Given the description of an element on the screen output the (x, y) to click on. 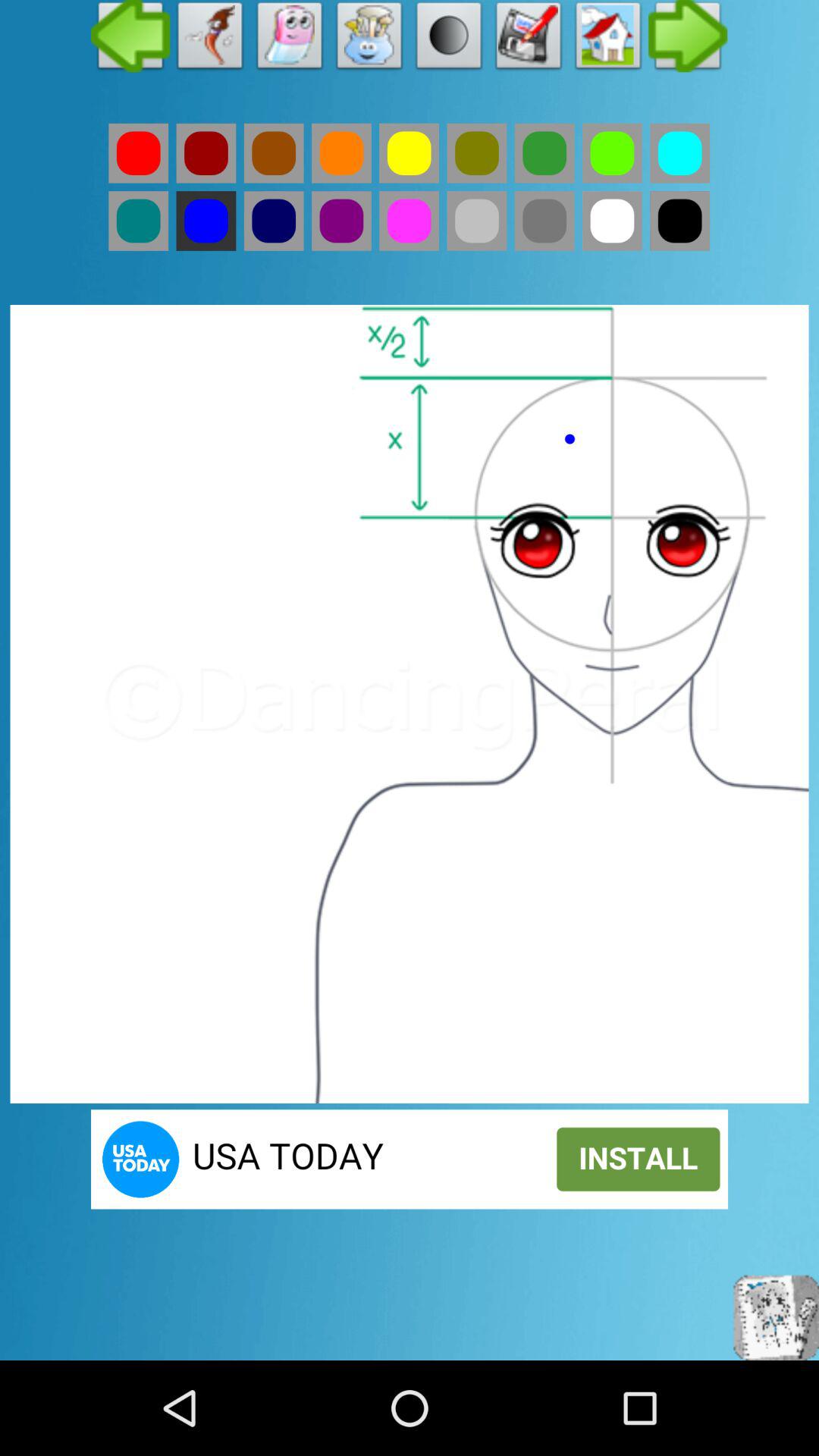
select the red color (138, 153)
